Given the description of an element on the screen output the (x, y) to click on. 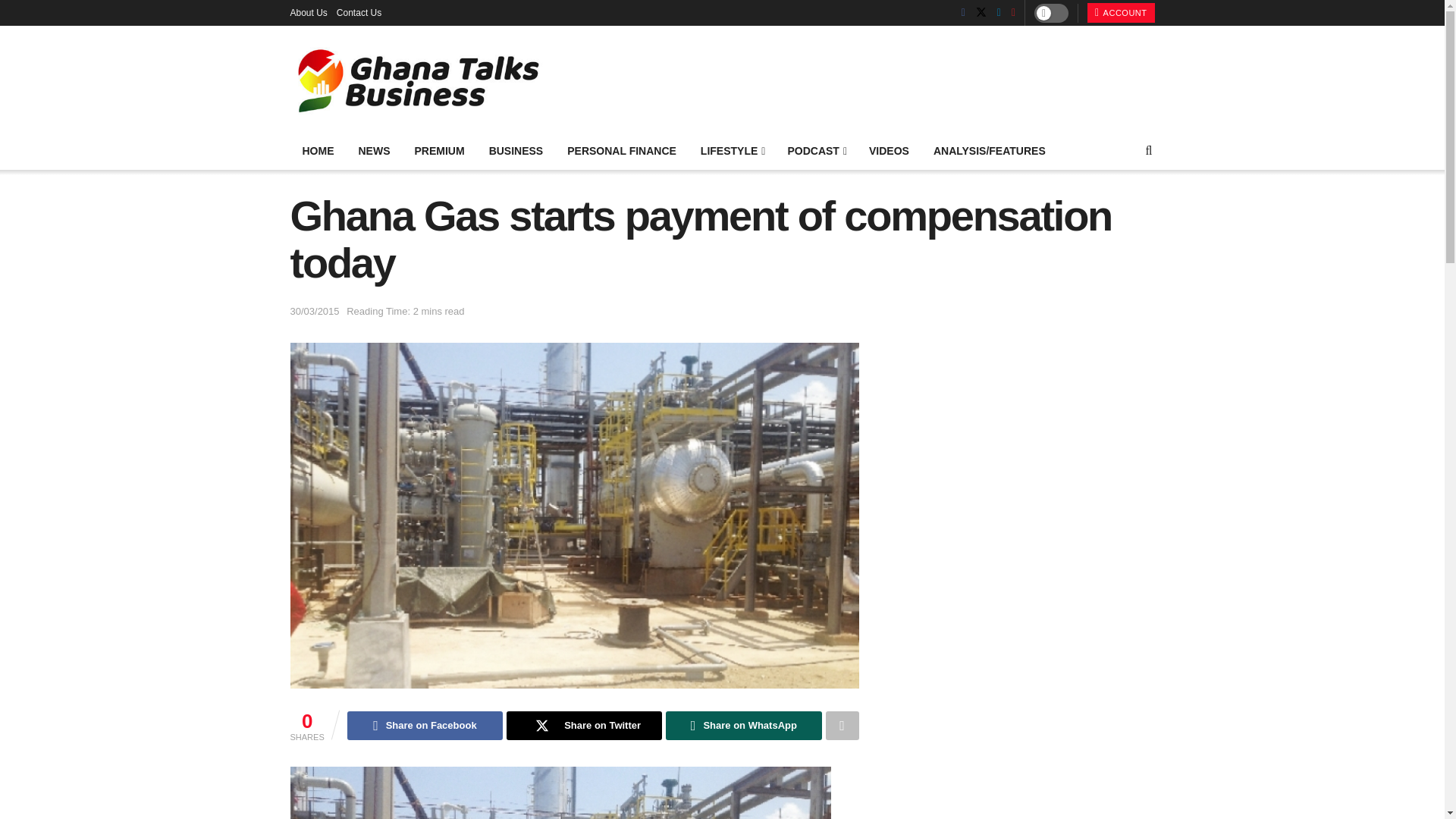
ACCOUNT (1120, 12)
Contact Us (358, 12)
NEWS (373, 150)
About Us (307, 12)
PERSONAL FINANCE (621, 150)
BUSINESS (516, 150)
HOME (317, 150)
PREMIUM (438, 150)
PODCAST (815, 150)
LIFESTYLE (732, 150)
